Given the description of an element on the screen output the (x, y) to click on. 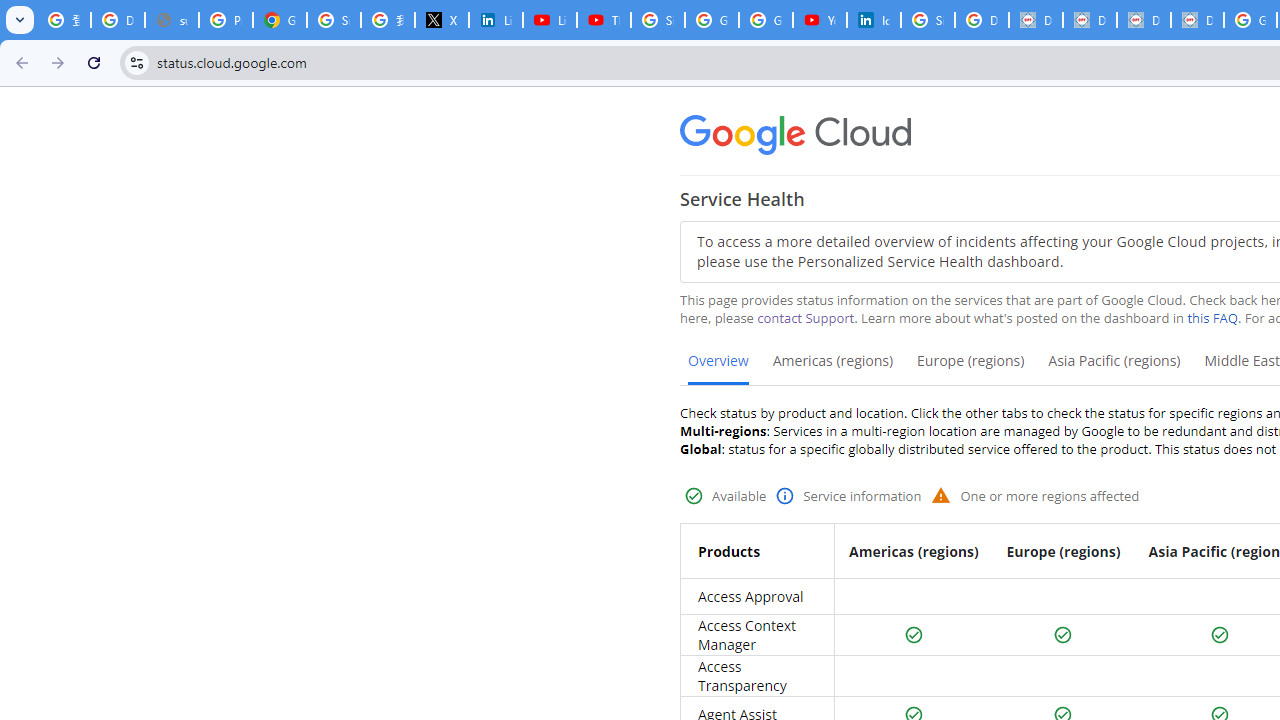
this FAQ (1211, 318)
X (441, 20)
support.google.com - Network error (171, 20)
Data Privacy Framework (1197, 20)
Data Privacy Framework (1035, 20)
contact Support (805, 318)
